Given the description of an element on the screen output the (x, y) to click on. 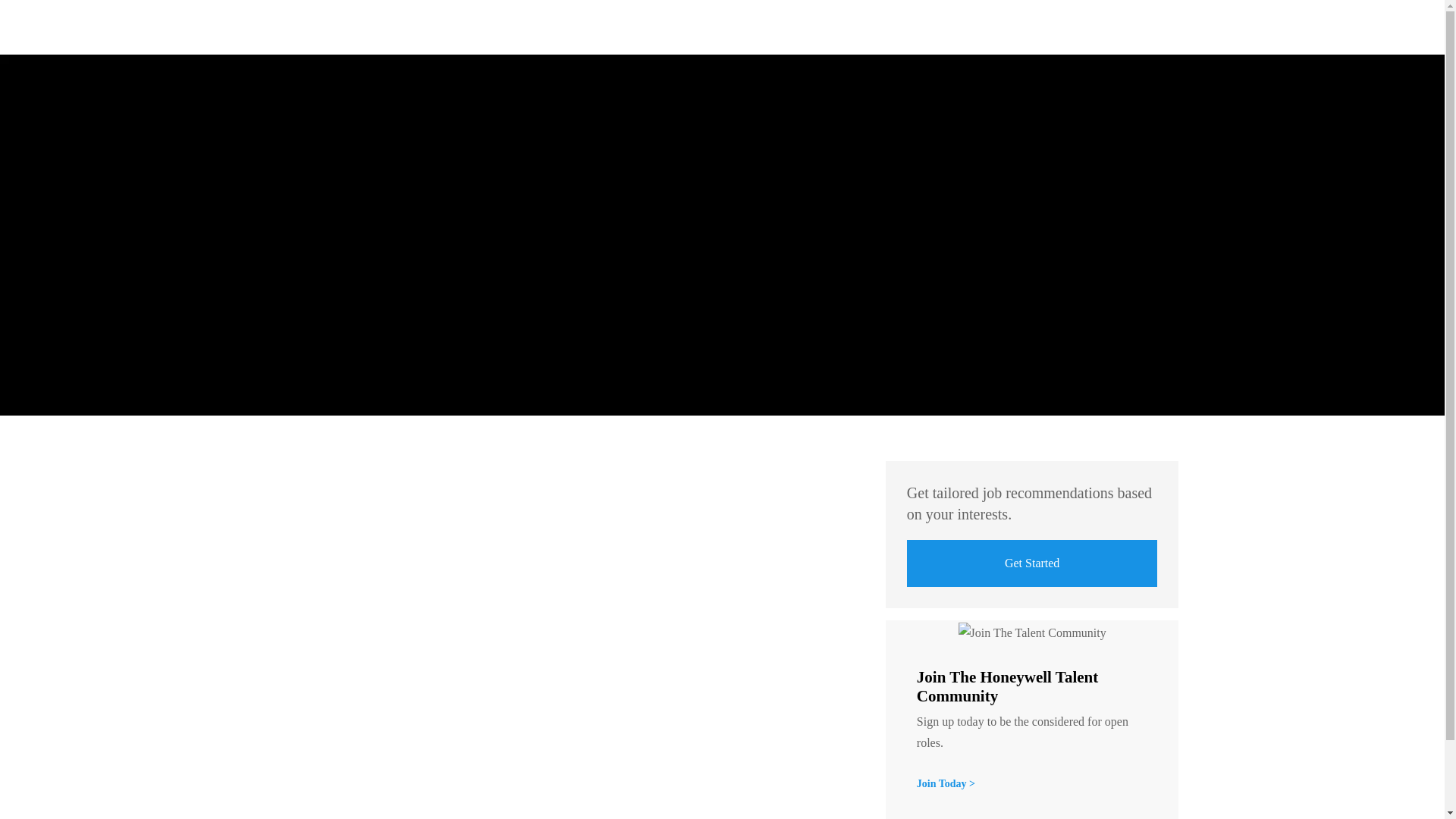
Get Started (1032, 563)
Join the Talent Community (946, 783)
